Given the description of an element on the screen output the (x, y) to click on. 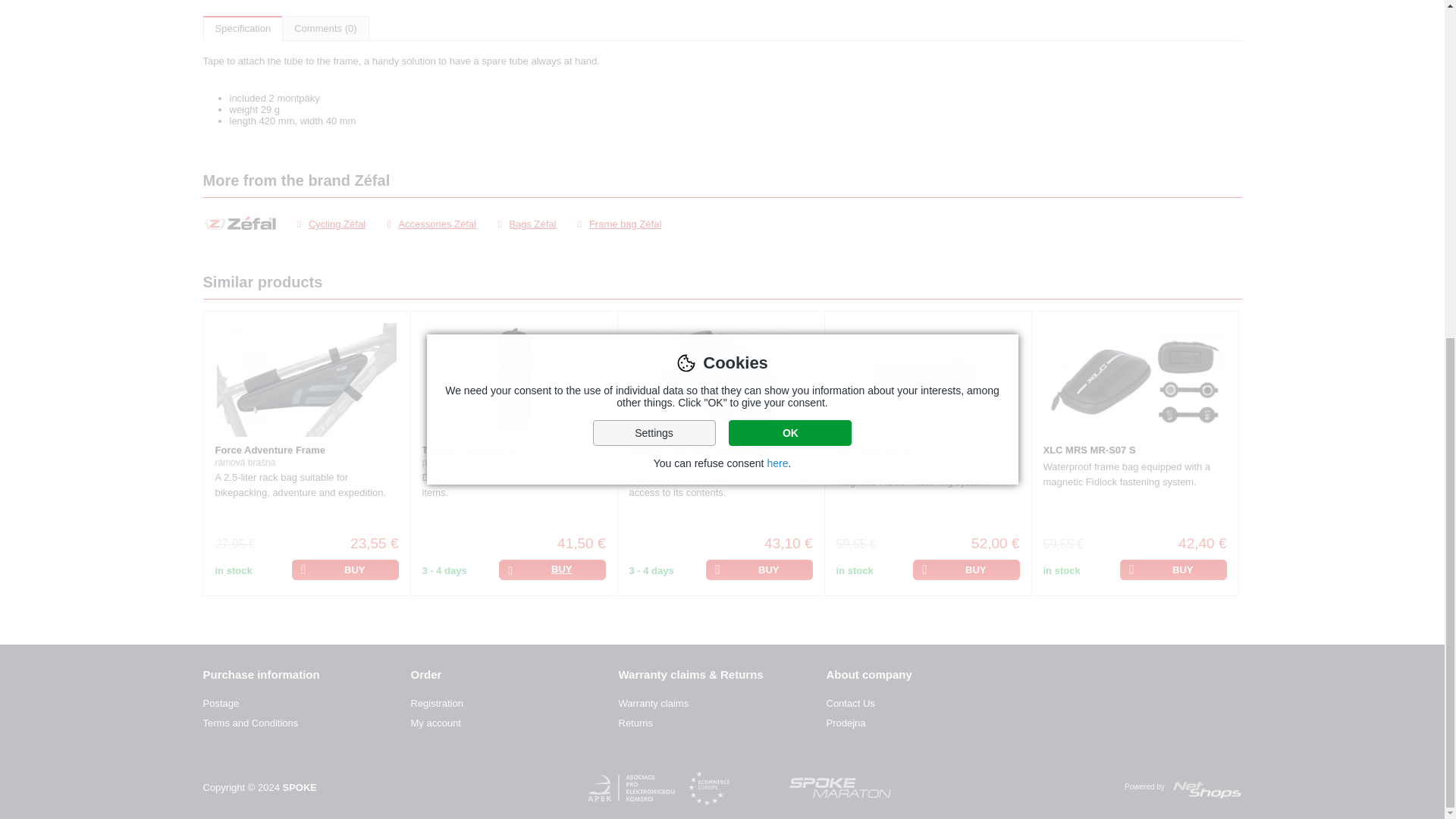
Buy (344, 569)
Buy (1173, 569)
Buy (758, 569)
Buy (965, 569)
